Given the description of an element on the screen output the (x, y) to click on. 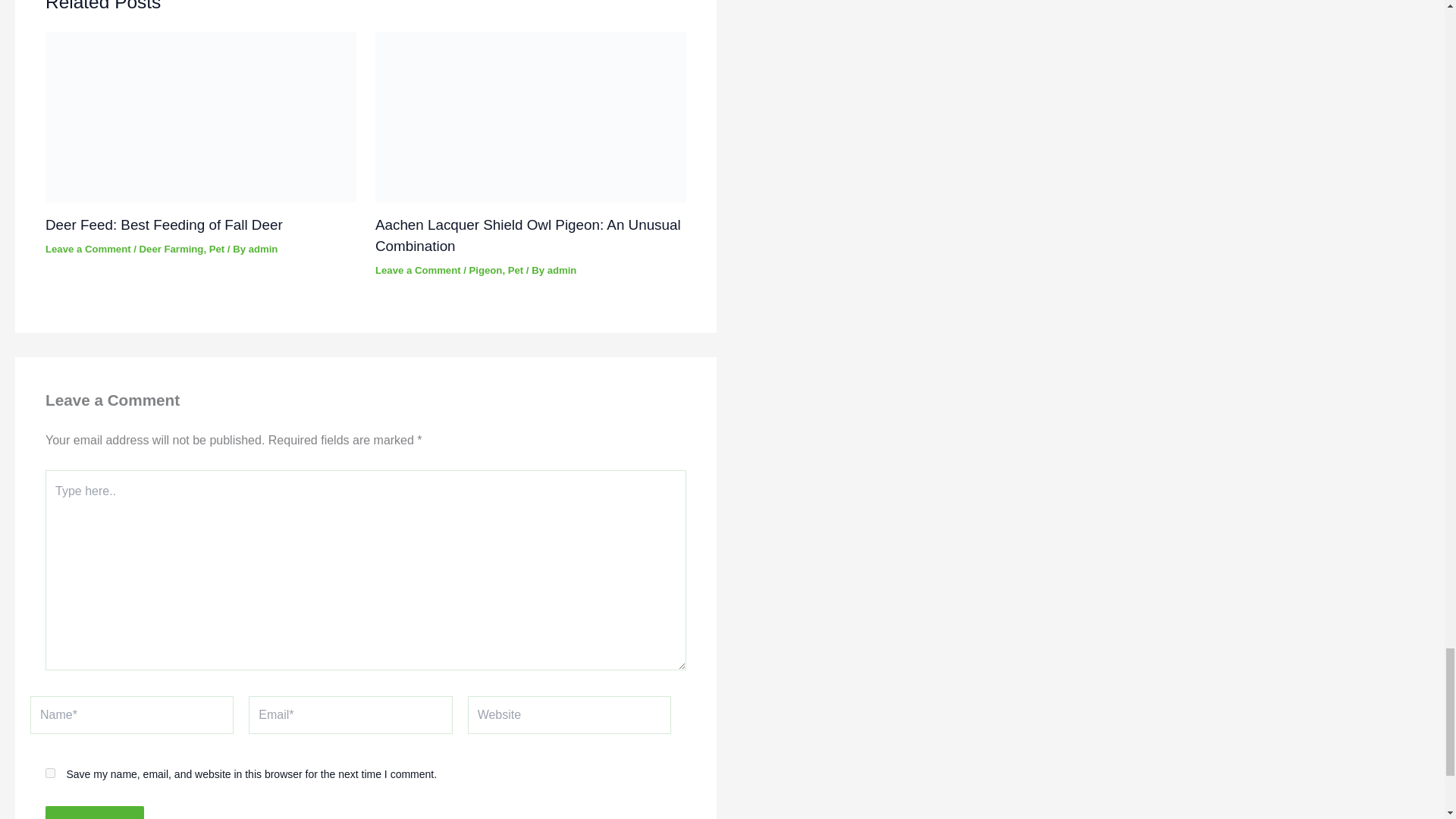
View all posts by admin (263, 248)
View all posts by admin (561, 270)
yes (50, 773)
Post Comment (94, 812)
